Given the description of an element on the screen output the (x, y) to click on. 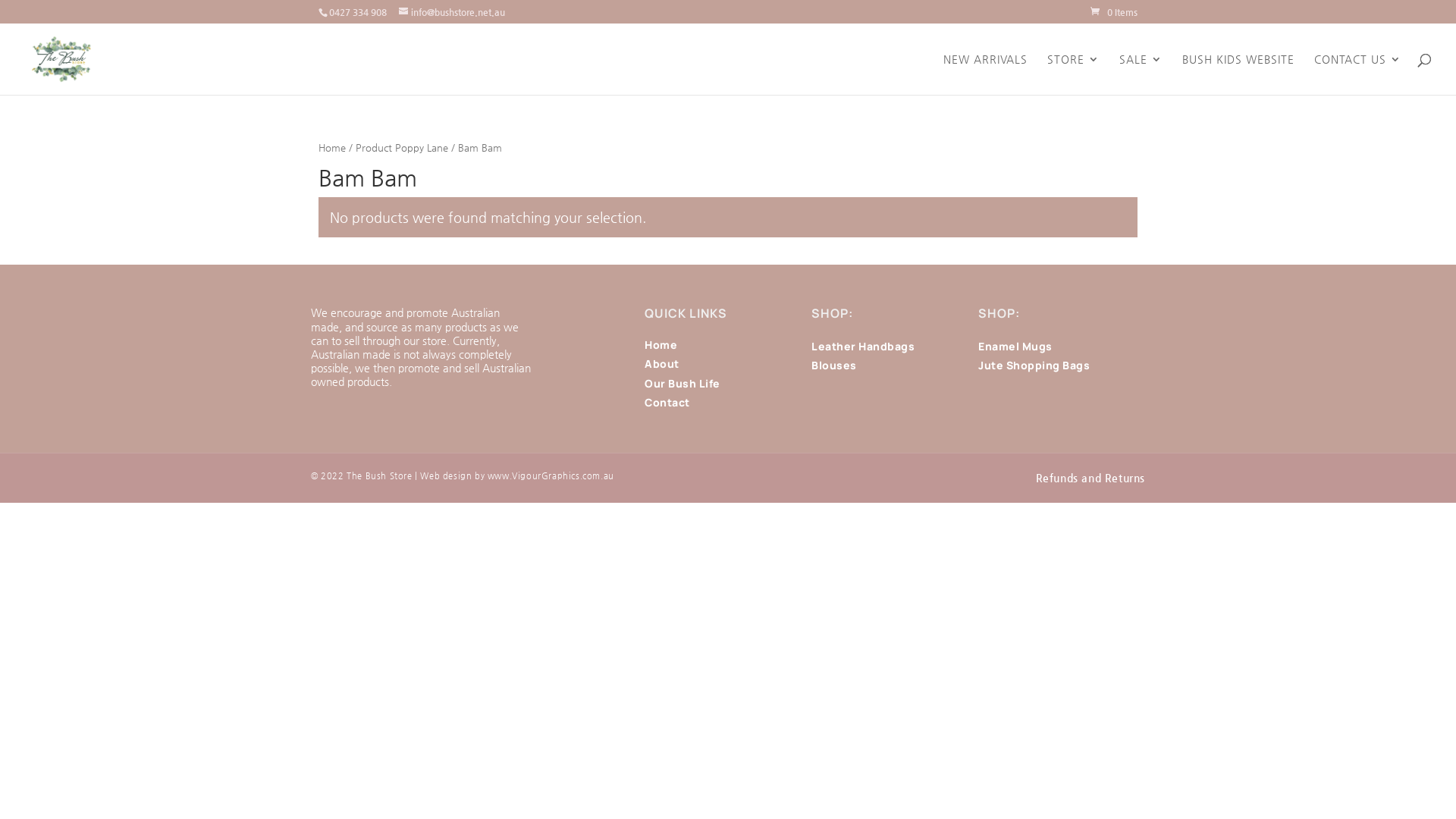
Our Bush Life Element type: text (682, 383)
Blouses Element type: text (833, 364)
Home Element type: text (660, 344)
STORE Element type: text (1073, 73)
SALE Element type: text (1140, 73)
NEW ARRIVALS Element type: text (985, 73)
About Element type: text (661, 363)
www.VigourGraphics.com.au Element type: text (550, 475)
Jute Shopping Bags Element type: text (1033, 364)
0 Items Element type: text (1113, 11)
Leather Handbags Element type: text (862, 345)
Home Element type: text (331, 147)
Enamel Mugs Element type: text (1015, 345)
CONTACT US Element type: text (1357, 73)
BUSH KIDS WEBSITE Element type: text (1238, 73)
Contact Element type: text (667, 402)
Refunds and Returns Element type: text (1090, 477)
info@bushstore.net.au Element type: text (451, 11)
